Given the description of an element on the screen output the (x, y) to click on. 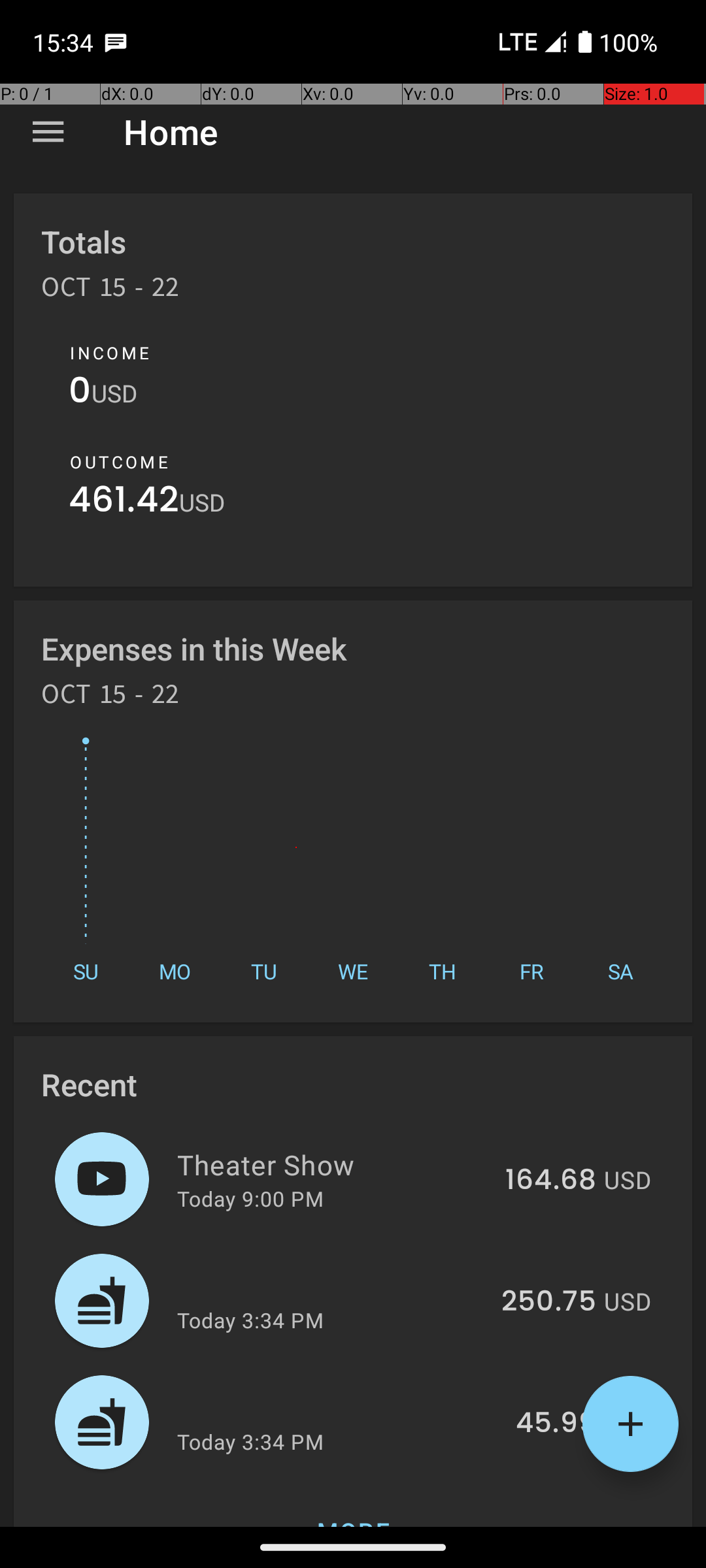
461.42 Element type: android.widget.TextView (123, 502)
Theater Show Element type: android.widget.TextView (333, 1164)
164.68 Element type: android.widget.TextView (550, 1180)
Today 3:34 PM Element type: android.widget.TextView (250, 1320)
250.75 Element type: android.widget.TextView (548, 1301)
45.99 Element type: android.widget.TextView (555, 1423)
